Given the description of an element on the screen output the (x, y) to click on. 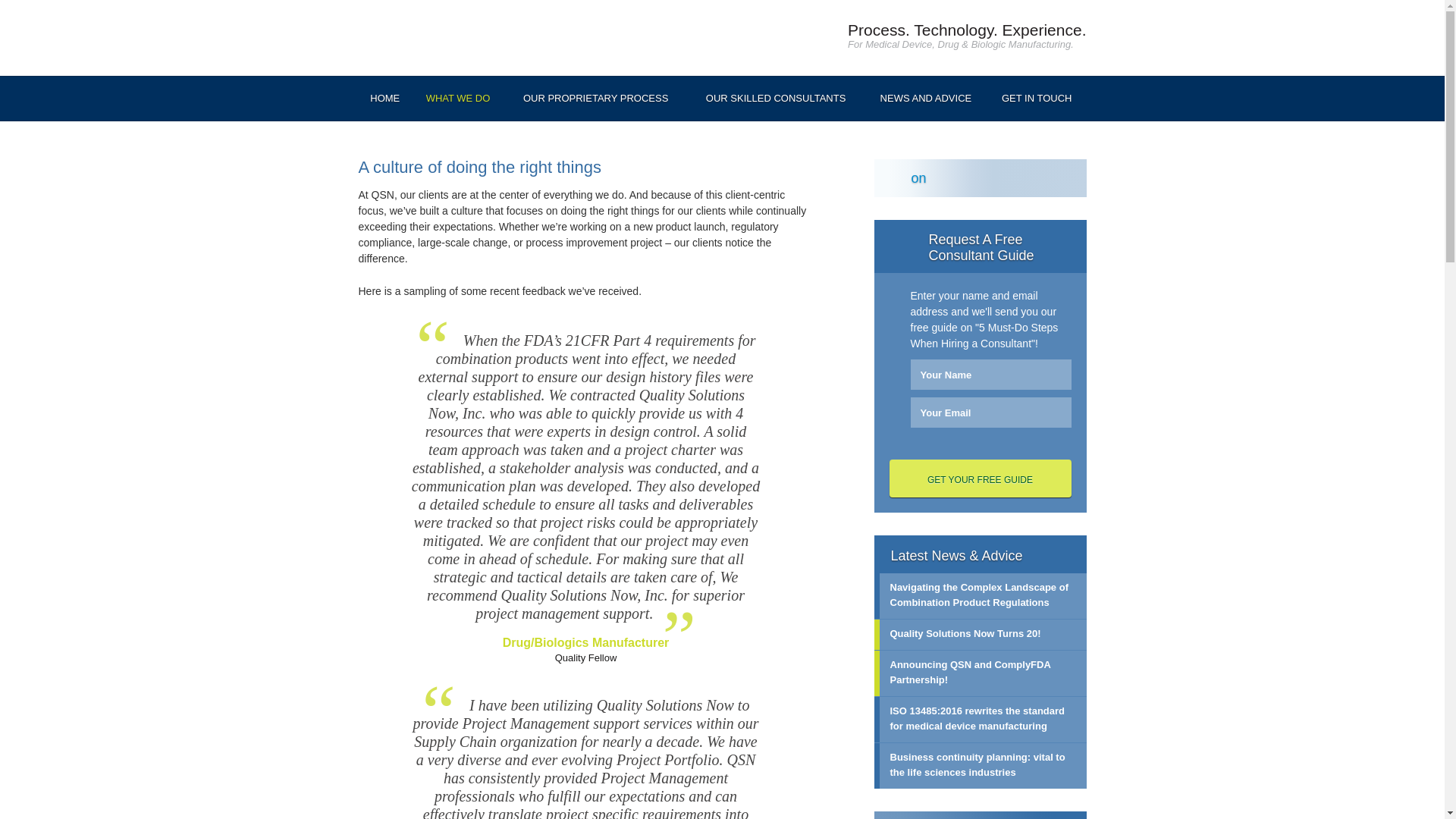
Search (1067, 817)
GET IN TOUCH (1036, 95)
search-field (979, 815)
Get your free guide (979, 478)
Search (1067, 817)
OUR SKILLED CONSULTANTS (775, 95)
linkedin (1029, 177)
Your Name (990, 374)
more (1067, 554)
